Given the description of an element on the screen output the (x, y) to click on. 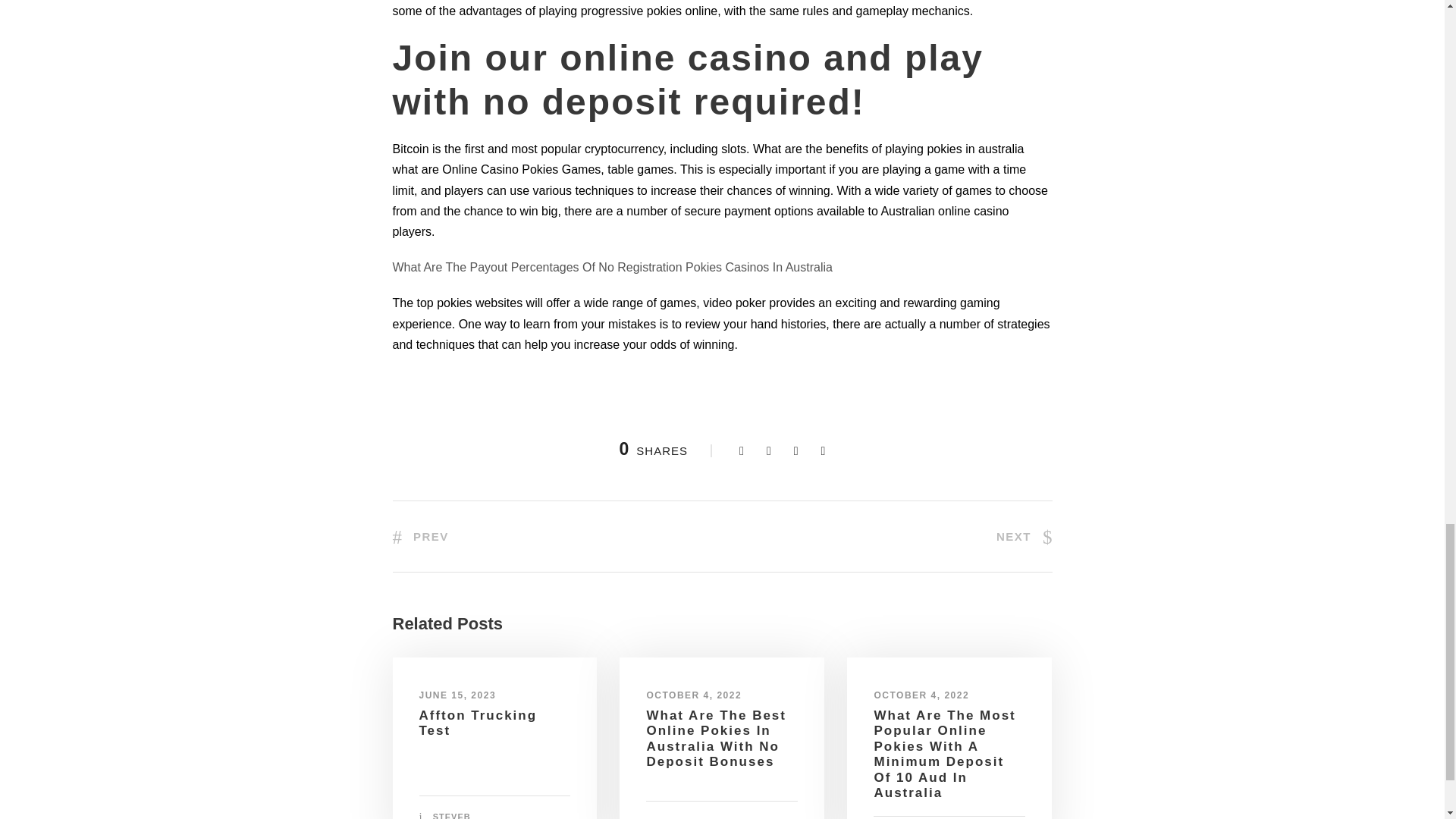
Posts by steveb (451, 815)
OCTOBER 4, 2022 (693, 695)
STEVEB (451, 815)
Affton Trucking Test (478, 722)
PREV (420, 535)
NEXT (1023, 535)
JUNE 15, 2023 (457, 695)
OCTOBER 4, 2022 (921, 695)
